Given the description of an element on the screen output the (x, y) to click on. 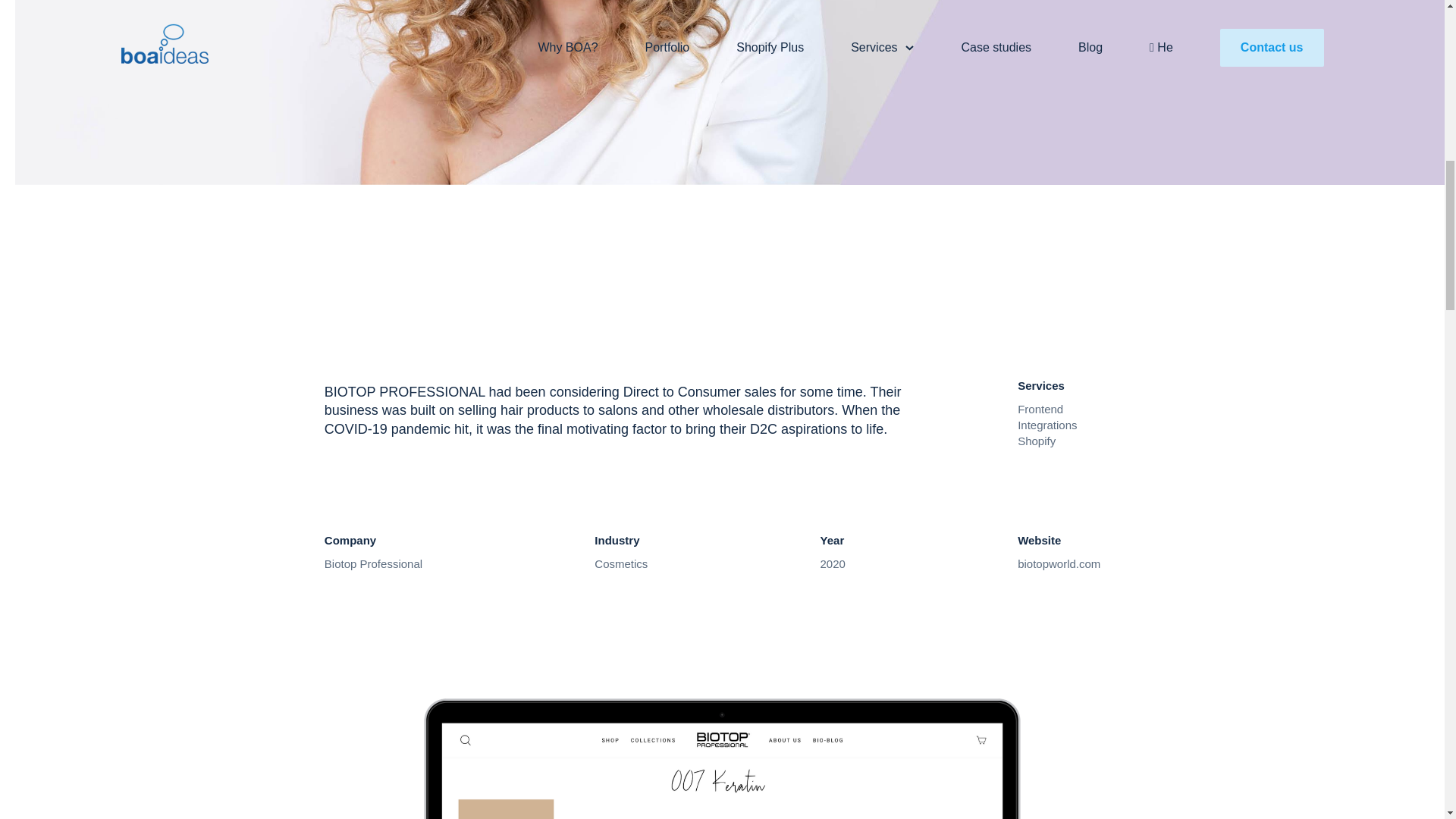
biotopworld.com (1058, 563)
